Given the description of an element on the screen output the (x, y) to click on. 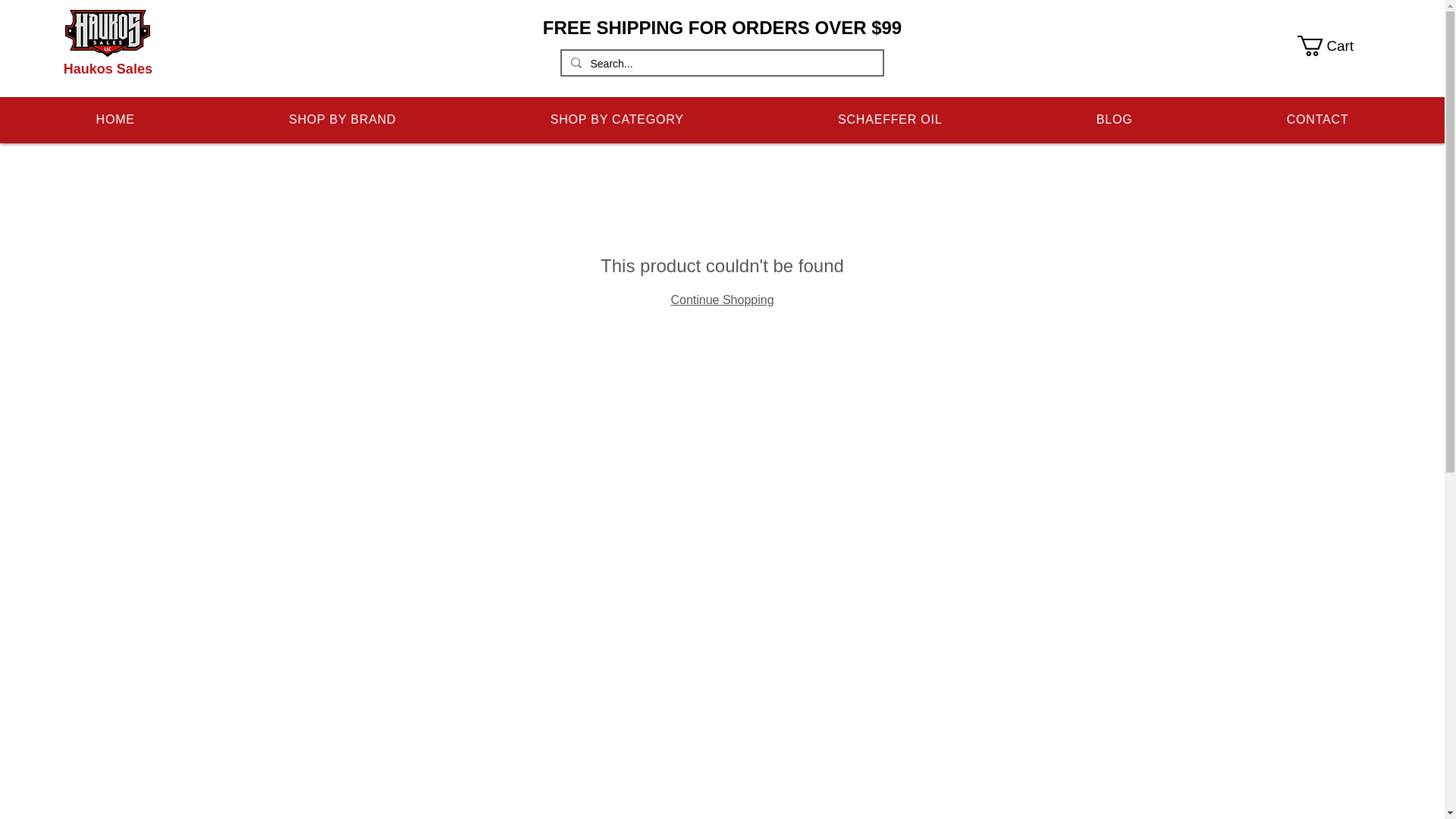
Haukos Sales (108, 68)
Cart (1335, 46)
Cart (1335, 46)
HOME (114, 119)
